Given the description of an element on the screen output the (x, y) to click on. 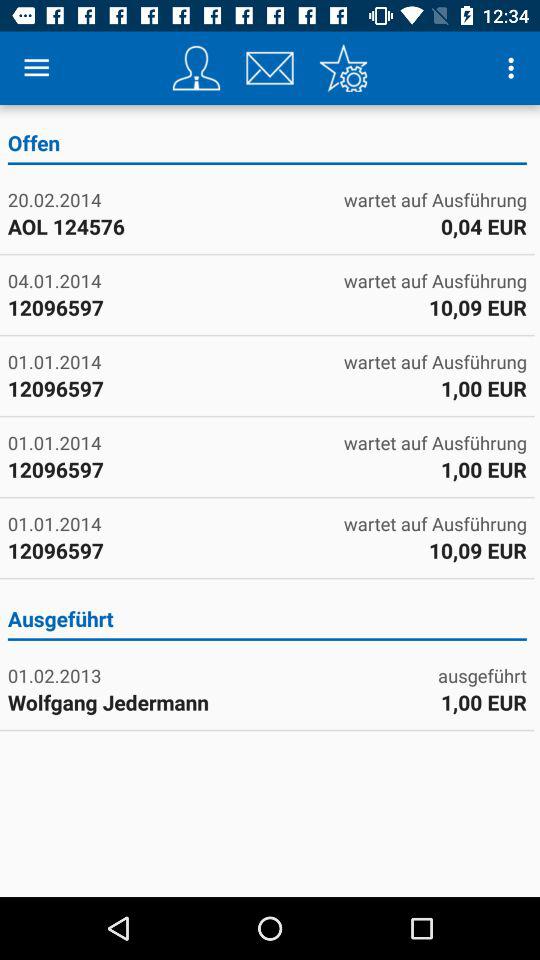
press the icon at the center (266, 622)
